Given the description of an element on the screen output the (x, y) to click on. 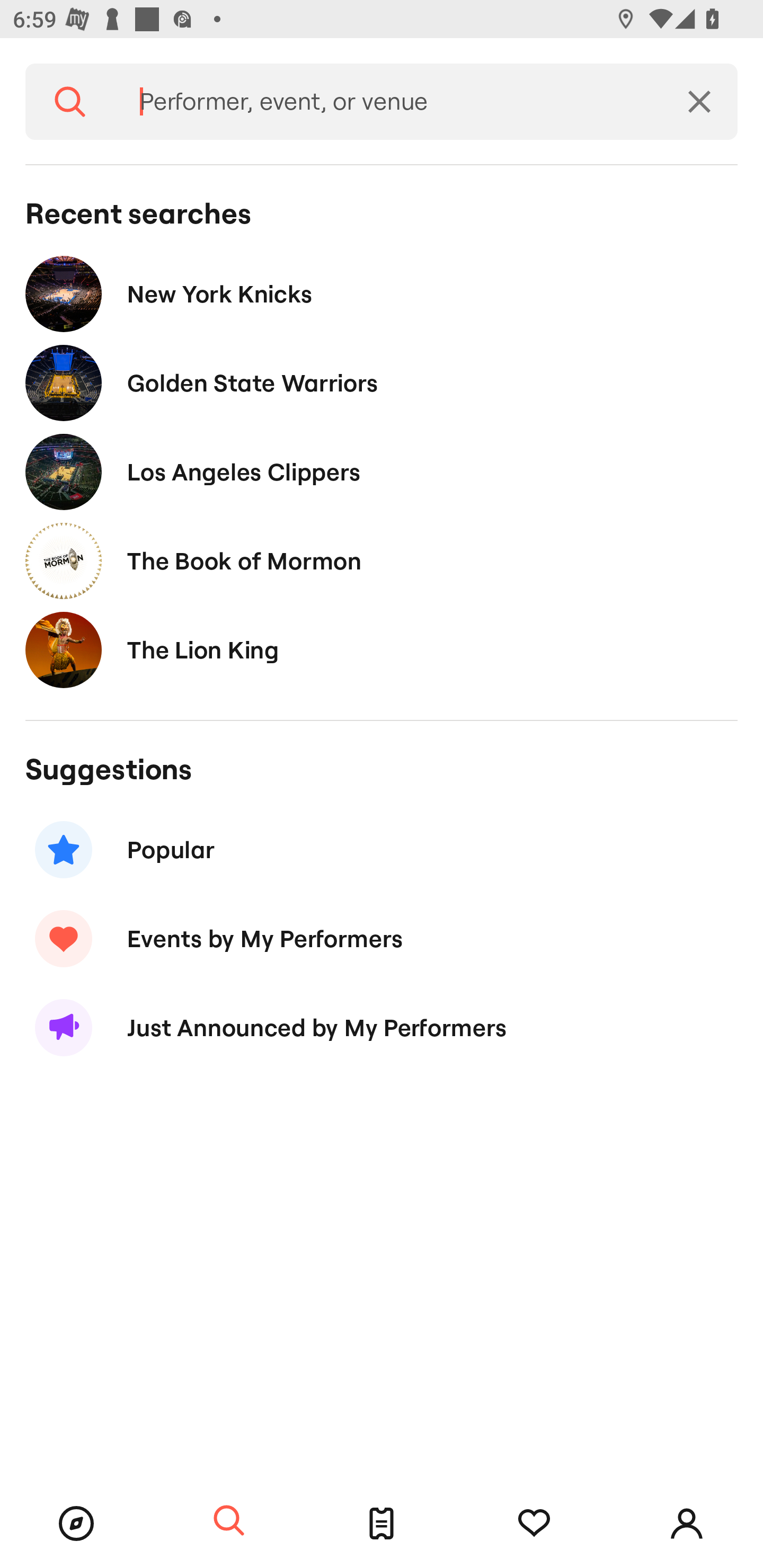
Search (69, 101)
Performer, event, or venue (387, 101)
Clear (699, 101)
New York Knicks (381, 293)
Golden State Warriors (381, 383)
Los Angeles Clippers (381, 471)
The Book of Mormon (381, 560)
The Lion King (381, 649)
Popular (381, 849)
Events by My Performers (381, 938)
Just Announced by My Performers (381, 1027)
Browse (76, 1523)
Search (228, 1521)
Tickets (381, 1523)
Tracking (533, 1523)
Account (686, 1523)
